Given the description of an element on the screen output the (x, y) to click on. 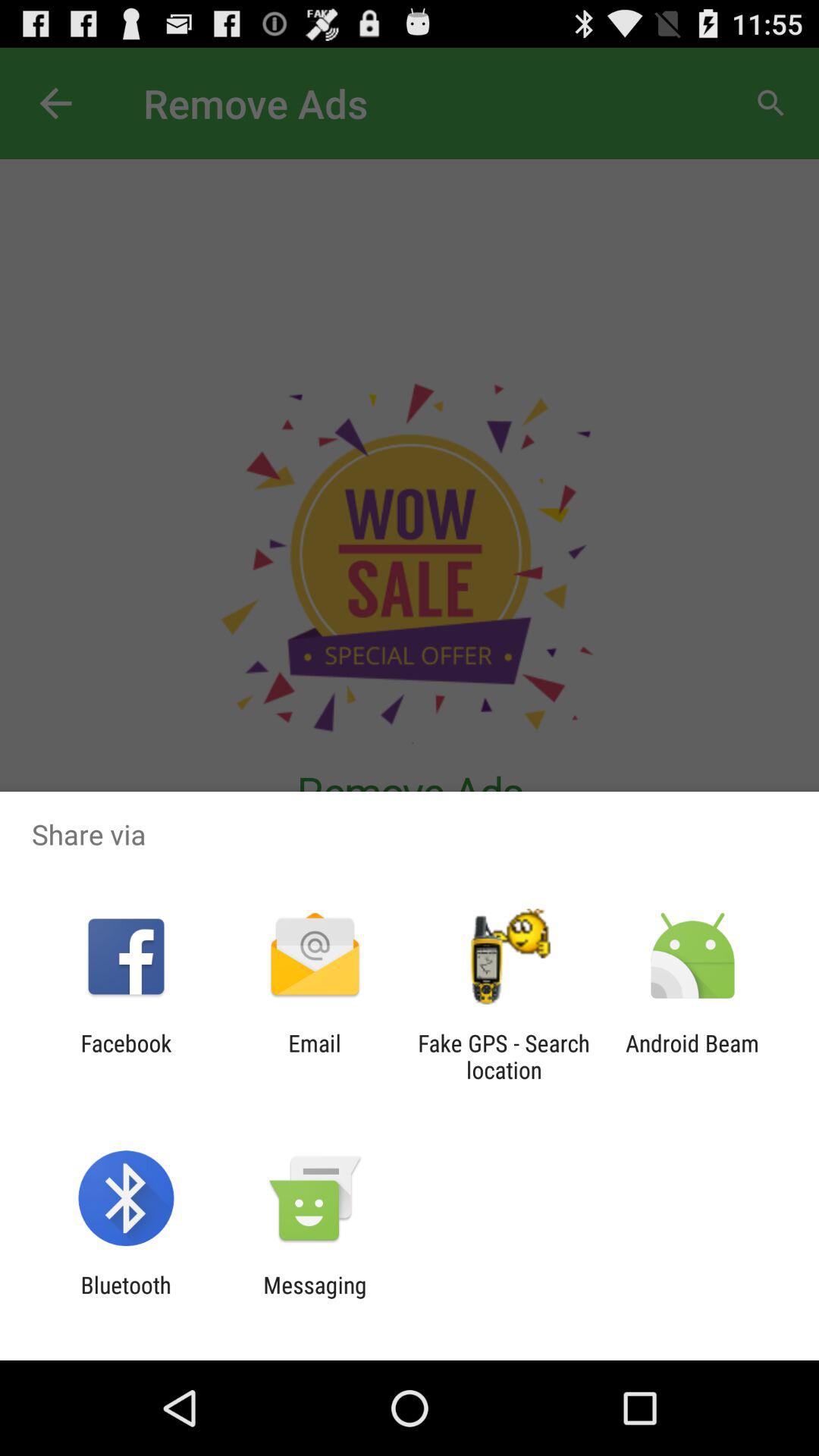
turn on item to the left of the email icon (125, 1056)
